Given the description of an element on the screen output the (x, y) to click on. 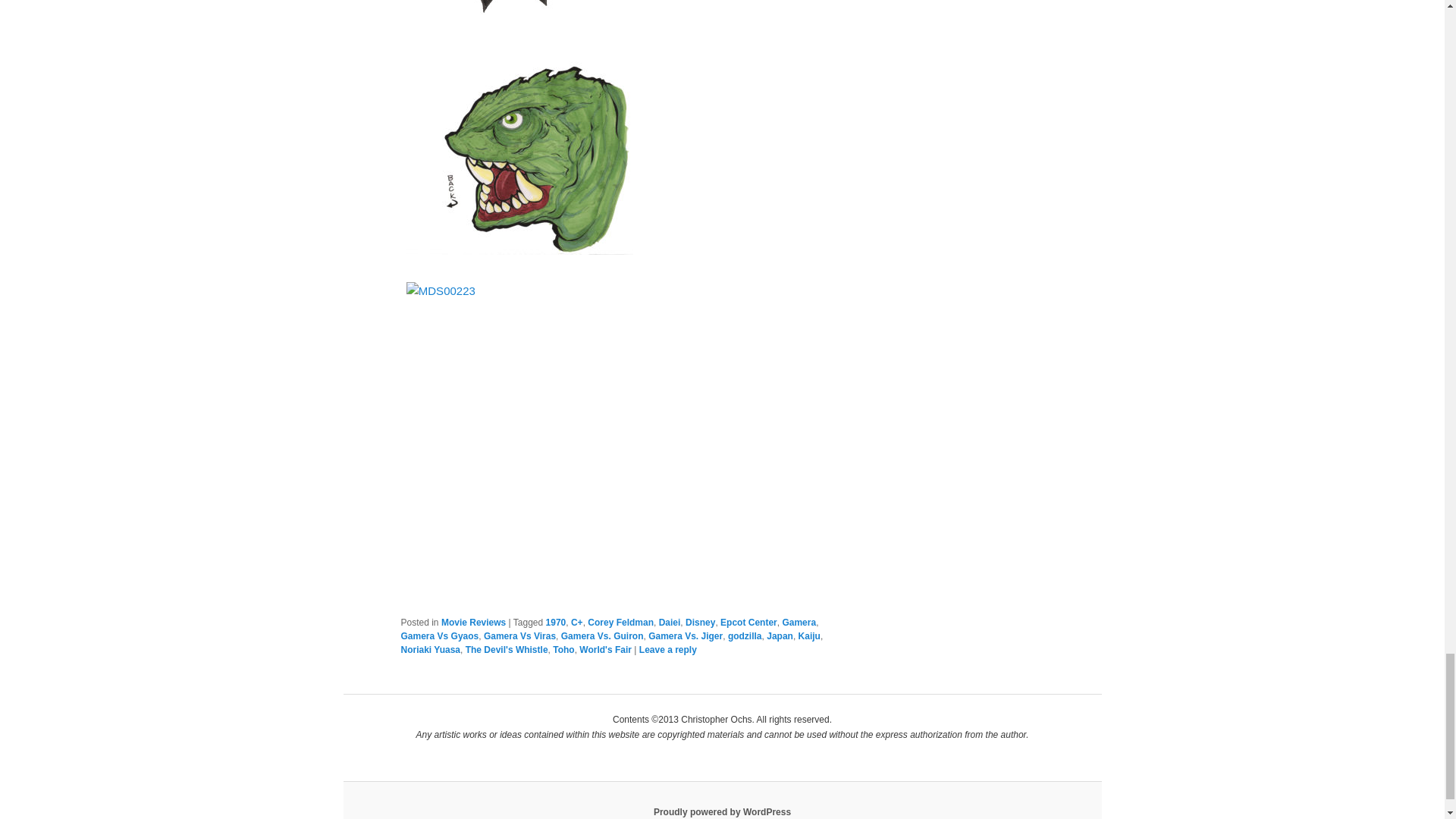
Semantic Personal Publishing Platform (721, 811)
